Given the description of an element on the screen output the (x, y) to click on. 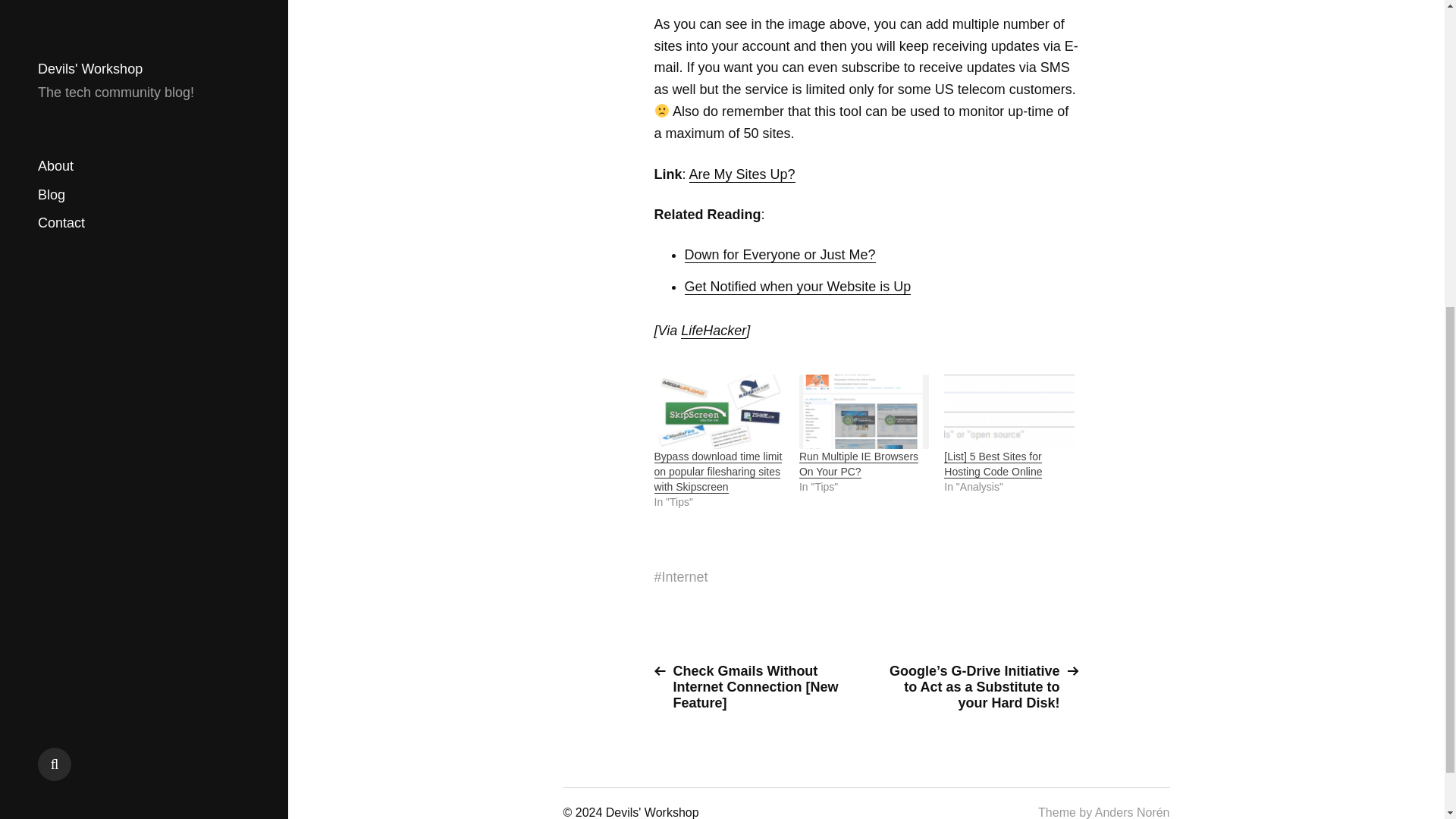
Run Multiple IE Browsers On Your PC? (858, 464)
Internet (684, 577)
LifeHacker (713, 330)
Run Multiple IE Browsers On Your PC? (858, 464)
Down for Everyone or Just Me? (779, 254)
Run Multiple IE Browsers On Your PC? (863, 411)
Are My Sites Up? (741, 174)
Get Notified when your Website is Up (797, 286)
